Given the description of an element on the screen output the (x, y) to click on. 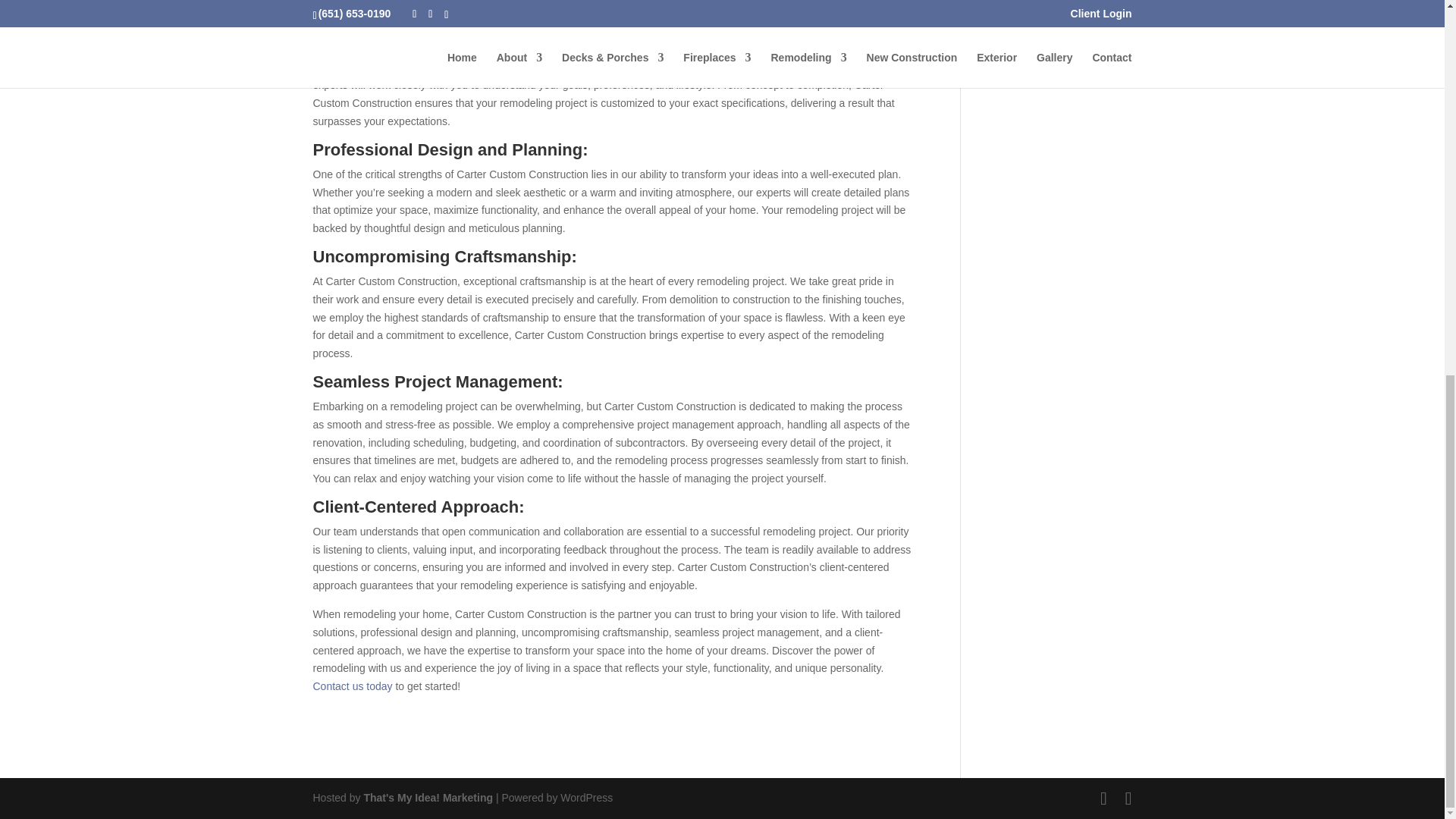
Self-Managed Websites  (427, 797)
